Given the description of an element on the screen output the (x, y) to click on. 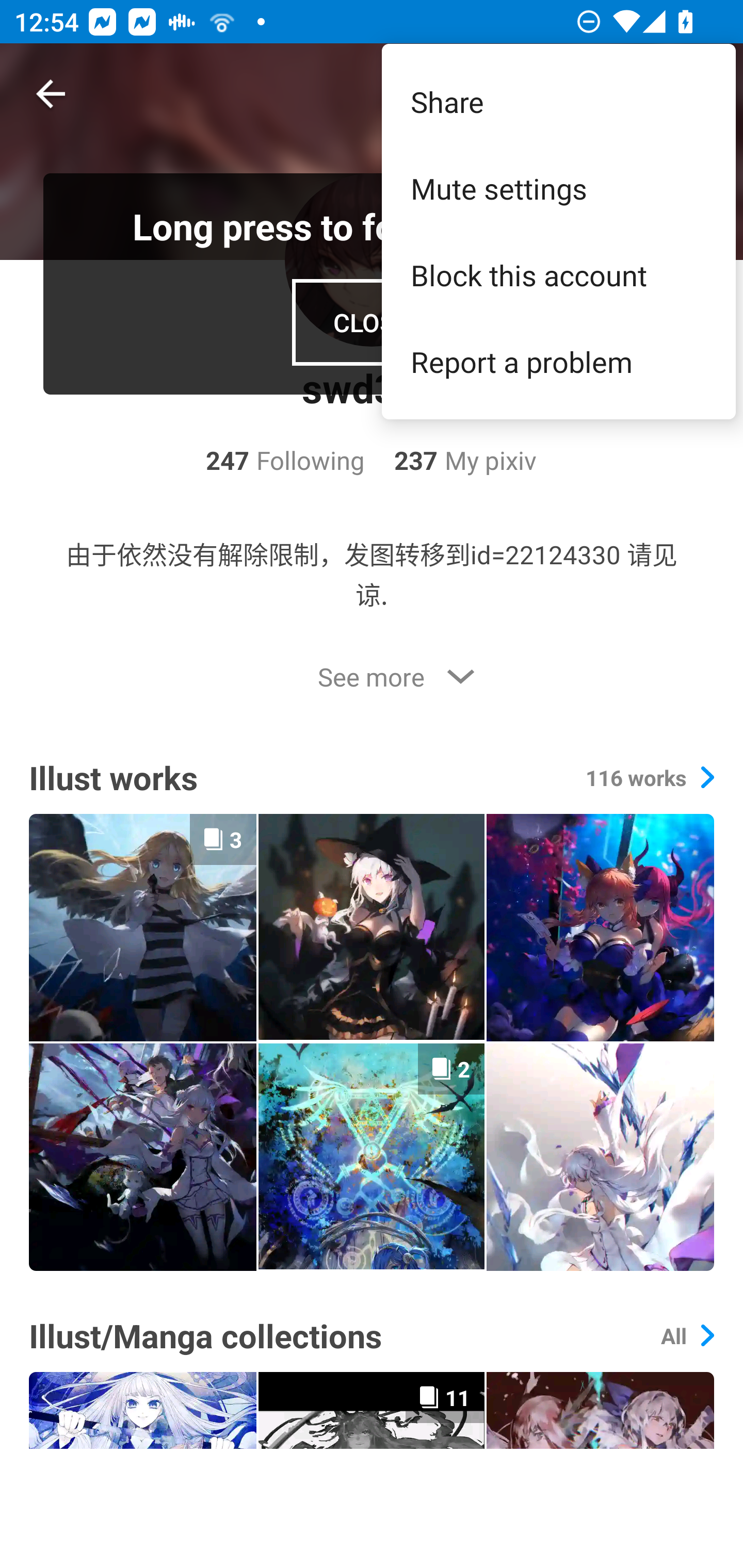
Share (558, 101)
Mute settings (558, 188)
Block this account (558, 275)
Report a problem (558, 361)
